Given the description of an element on the screen output the (x, y) to click on. 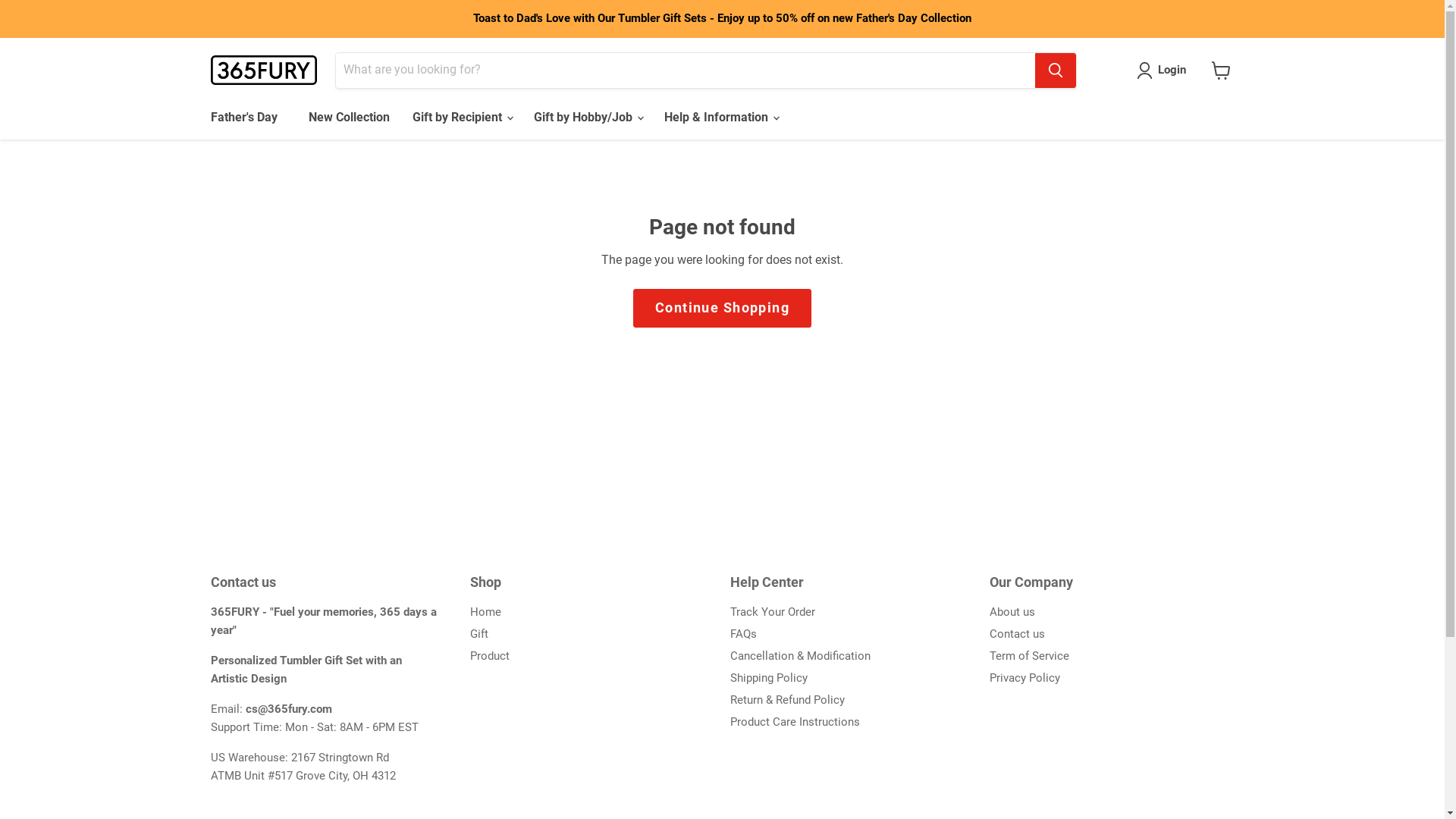
Privacy Policy Element type: text (1024, 677)
Contact us Element type: text (1016, 633)
View cart Element type: text (1221, 69)
Cancellation & Modification Element type: text (799, 655)
Shipping Policy Element type: text (767, 677)
Return & Refund Policy Element type: text (786, 699)
FAQs Element type: text (742, 633)
Gift Element type: text (479, 633)
Home Element type: text (485, 611)
About us Element type: text (1012, 611)
Product Care Instructions Element type: text (794, 721)
Login Element type: text (1164, 70)
Continue Shopping Element type: text (722, 307)
Father's Day Element type: text (243, 117)
Product Element type: text (489, 655)
Term of Service Element type: text (1029, 655)
Track Your Order Element type: text (771, 611)
